Given the description of an element on the screen output the (x, y) to click on. 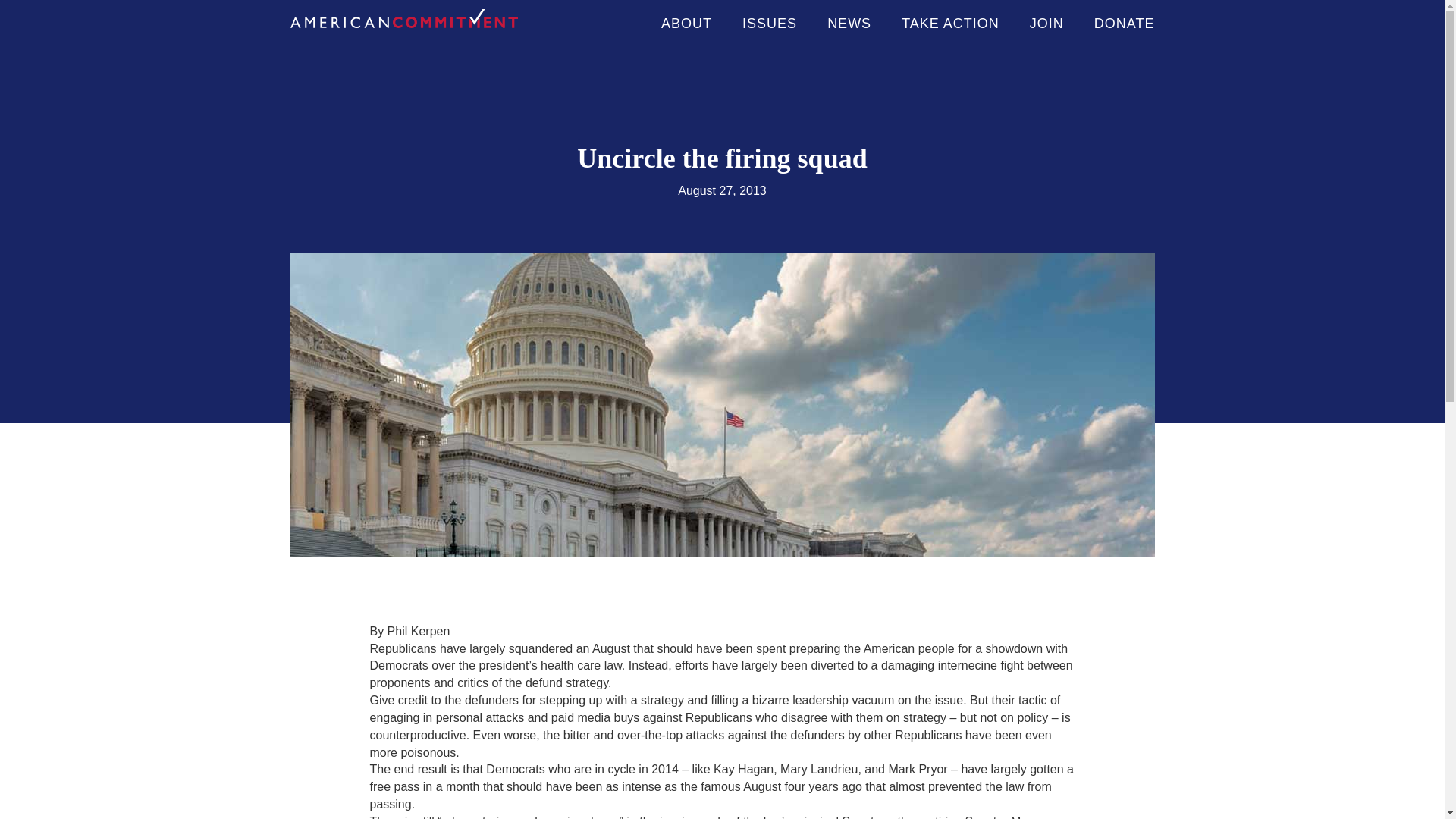
NEWS (848, 23)
ABOUT (686, 23)
TAKE ACTION (949, 23)
DONATE (1124, 23)
JOIN (1046, 23)
ISSUES (769, 23)
